Given the description of an element on the screen output the (x, y) to click on. 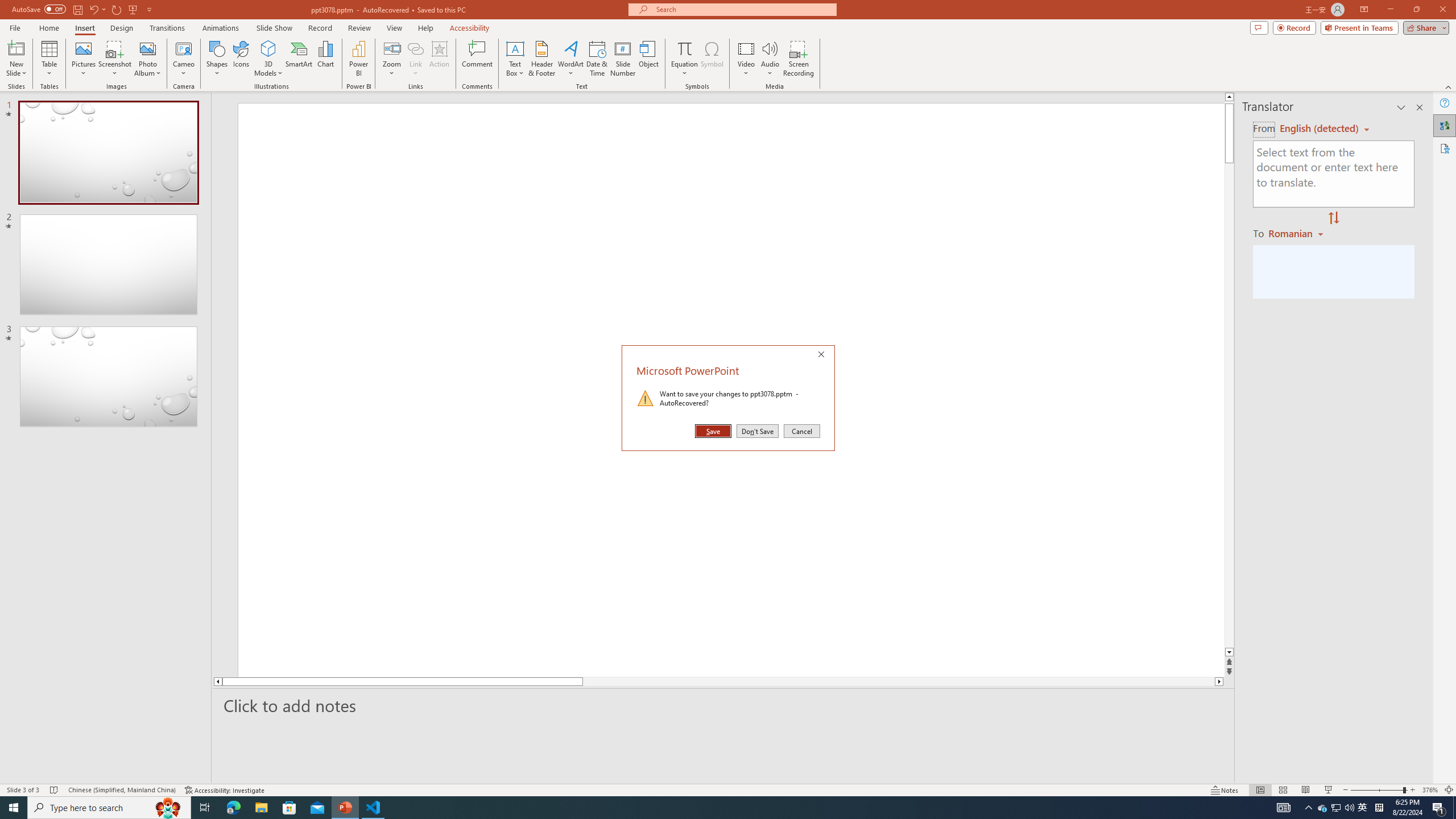
Power BI (358, 58)
Link (415, 58)
Draw Horizontal Text Box (515, 48)
Slide Number (622, 58)
Don't Save (757, 431)
Zoom 376% (1430, 790)
